Given the description of an element on the screen output the (x, y) to click on. 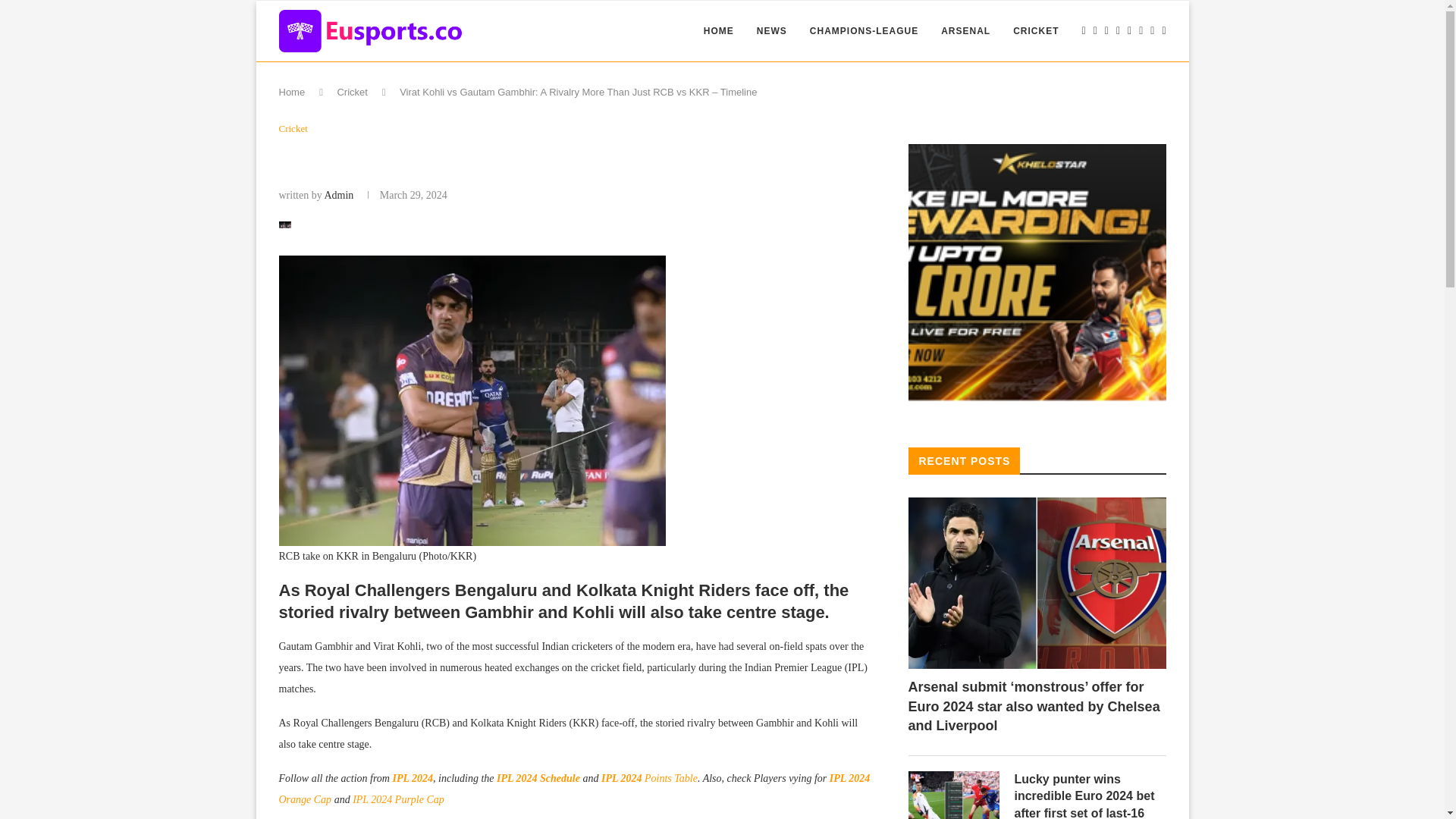
Home (292, 91)
IPL 2024 Schedule (537, 778)
Admin (338, 194)
Orange Cap (305, 799)
Cricket (351, 91)
IPL 2024 Purple Cap (398, 799)
IPL 2024 Points Table (649, 778)
IPL 2024 (849, 778)
Cricket (293, 128)
CHAMPIONS-LEAGUE (863, 30)
IPL 2024 (411, 778)
